Given the description of an element on the screen output the (x, y) to click on. 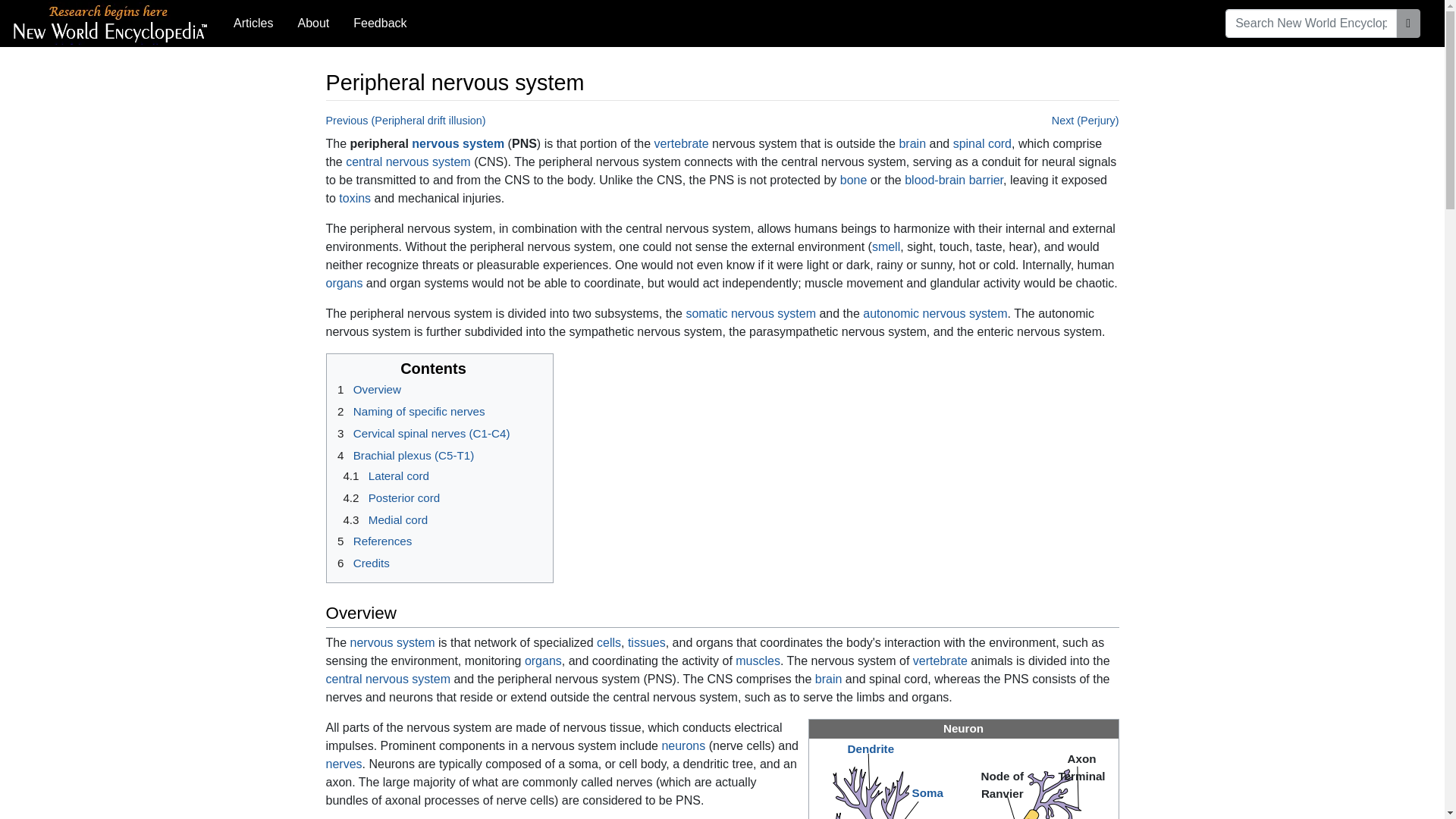
4.3 Medial cord (382, 519)
smell (885, 246)
6 Credits (360, 562)
bone (853, 179)
Perjury (1085, 120)
Visit the main page (110, 21)
spinal cord (982, 143)
Nervous system (392, 642)
5 References (371, 540)
brain (829, 678)
2 Naming of specific nerves (407, 410)
1 Overview (366, 389)
Brain (912, 143)
Olfaction (885, 246)
organs (543, 660)
